Given the description of an element on the screen output the (x, y) to click on. 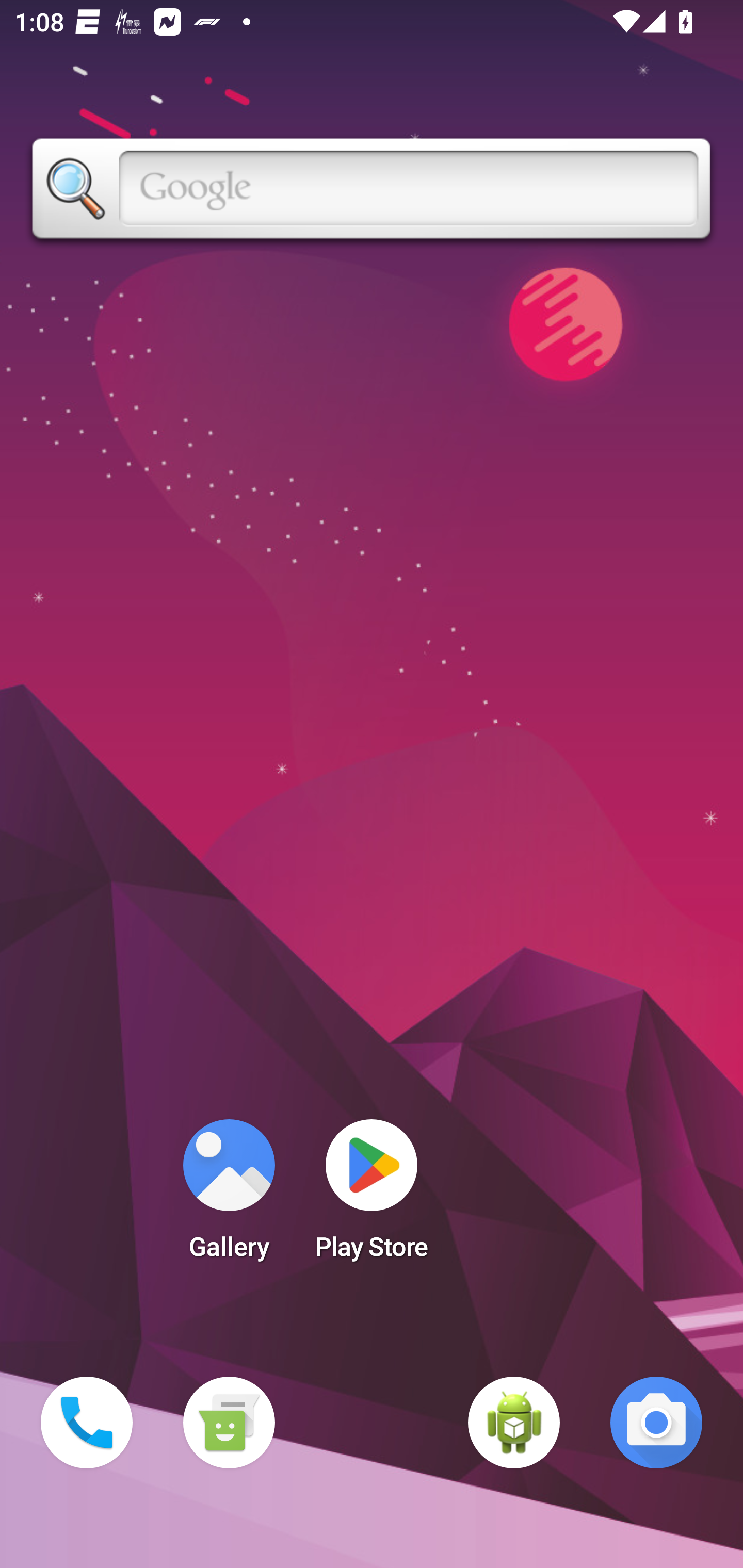
Gallery (228, 1195)
Play Store (371, 1195)
Phone (86, 1422)
Messaging (228, 1422)
WebView Browser Tester (513, 1422)
Camera (656, 1422)
